Given the description of an element on the screen output the (x, y) to click on. 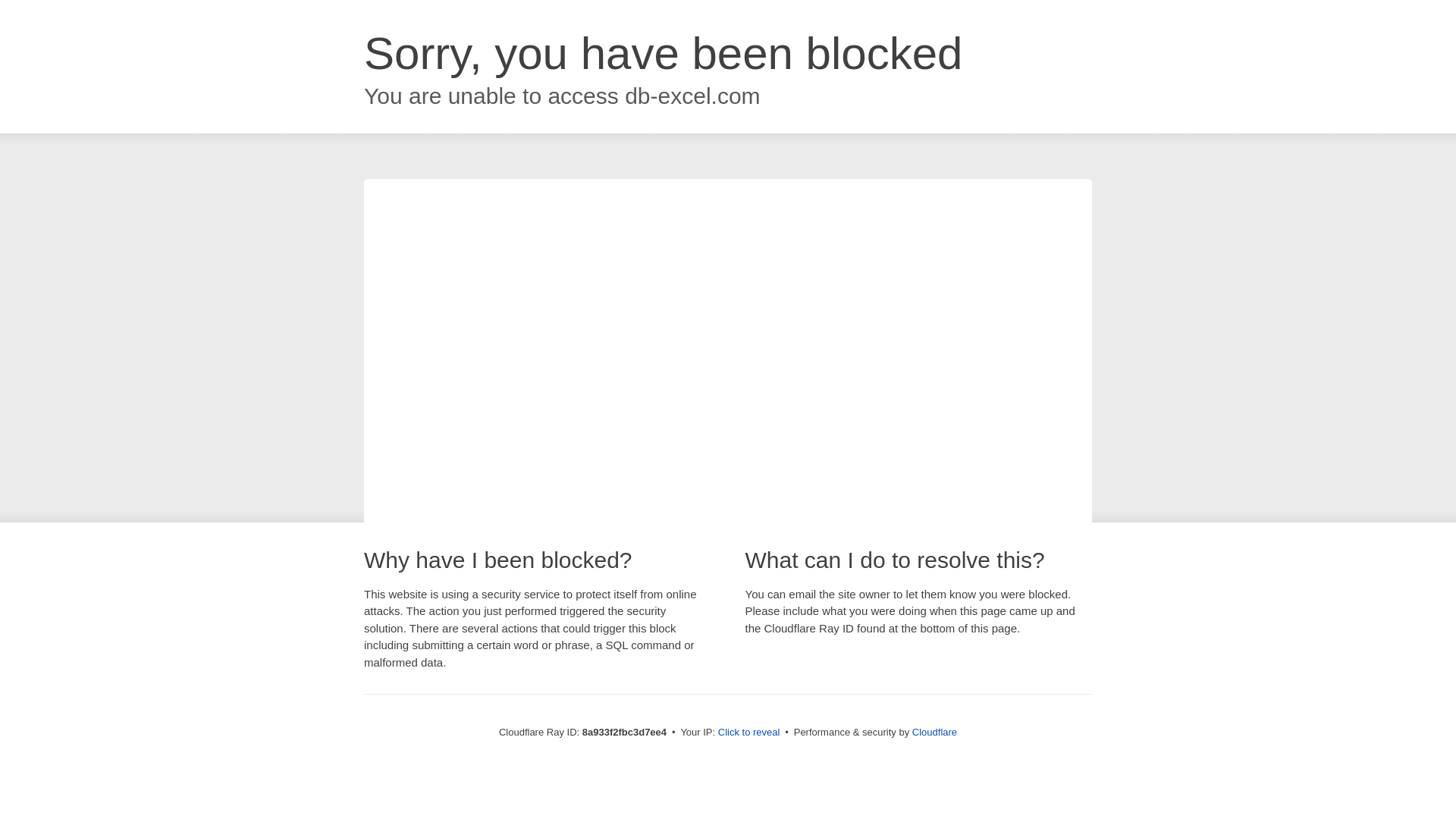
Click to reveal (748, 732)
Cloudflare (934, 731)
